Given the description of an element on the screen output the (x, y) to click on. 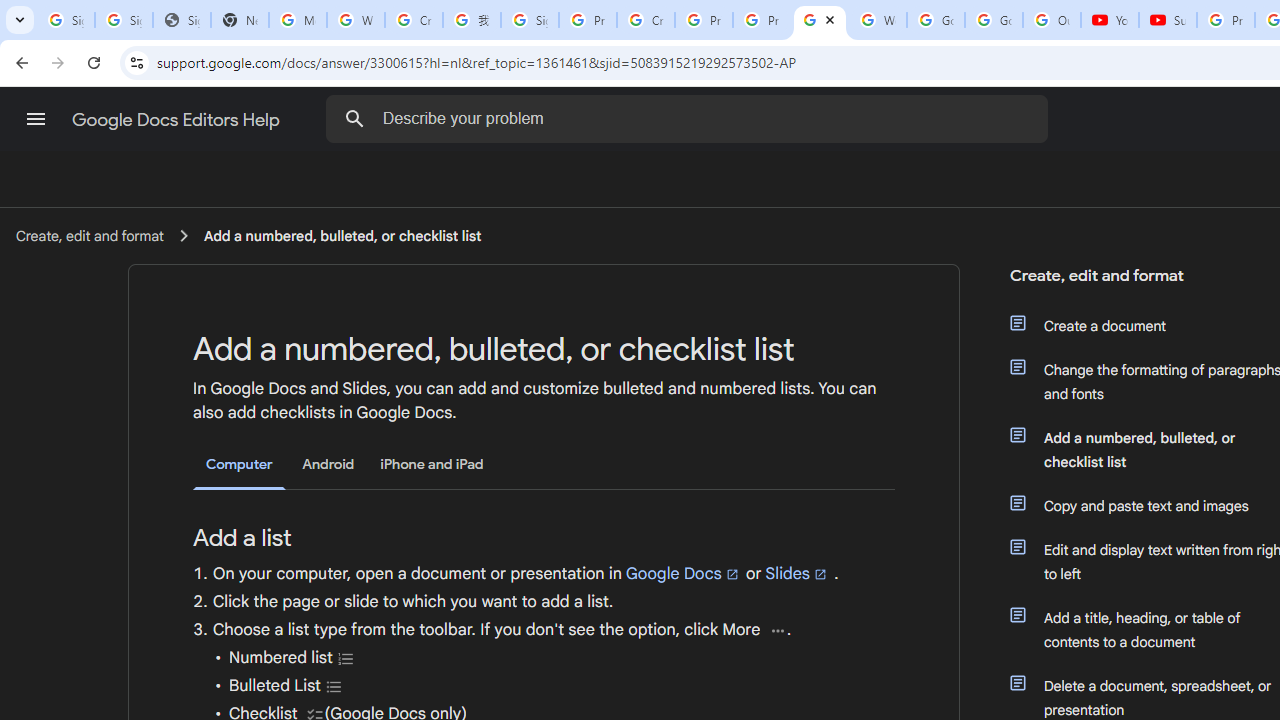
Google Docs (683, 573)
Numbered list (345, 658)
Bulleted List (334, 686)
Sign in - Google Accounts (123, 20)
Create your Google Account (413, 20)
Describe your problem (689, 118)
Google Docs Editors Help (177, 119)
